Given the description of an element on the screen output the (x, y) to click on. 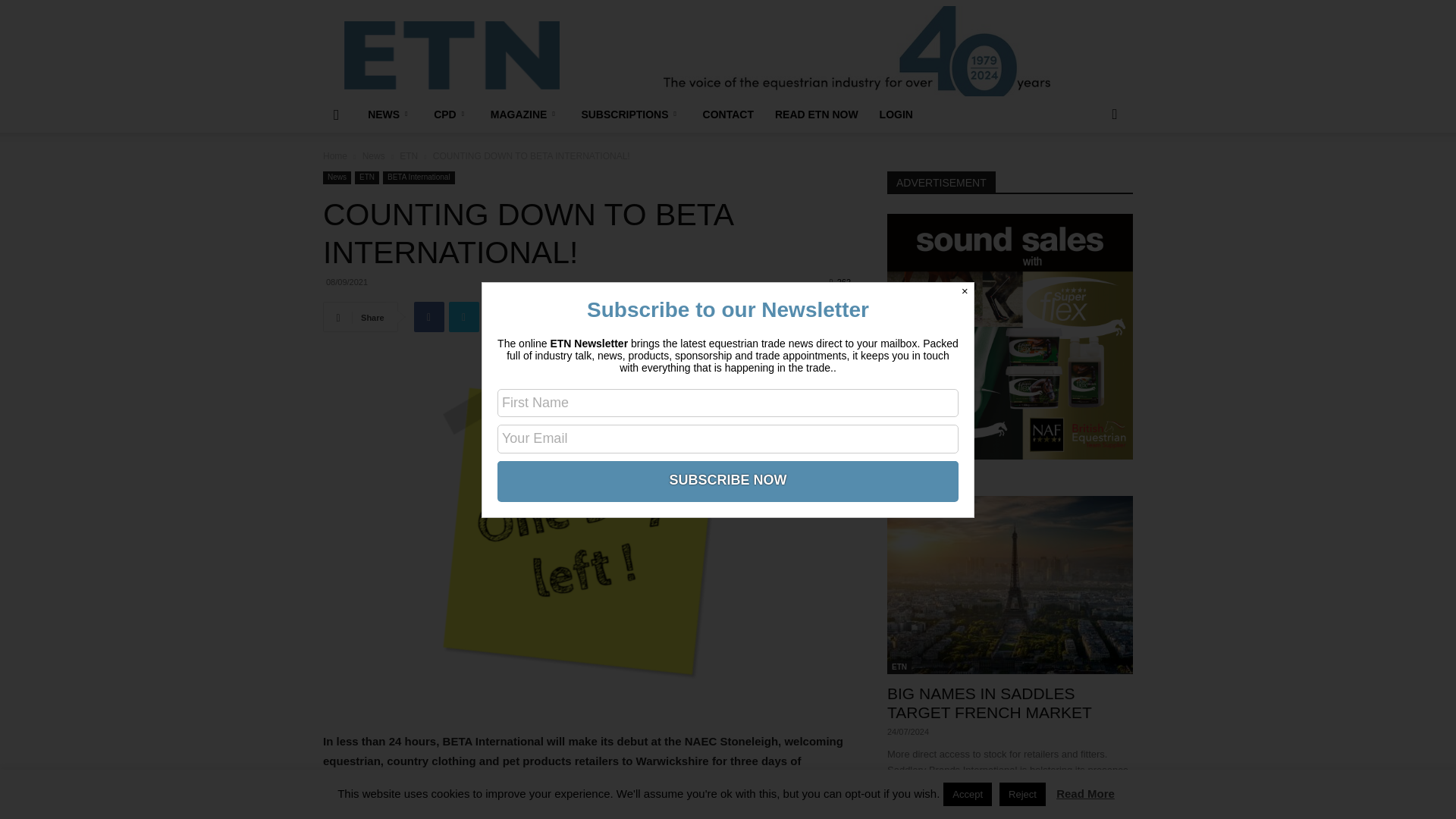
NEWS (389, 114)
EQUESTRIAN TRADE NEWS (451, 55)
SUBSCRIBE NOW (727, 479)
